Given the description of an element on the screen output the (x, y) to click on. 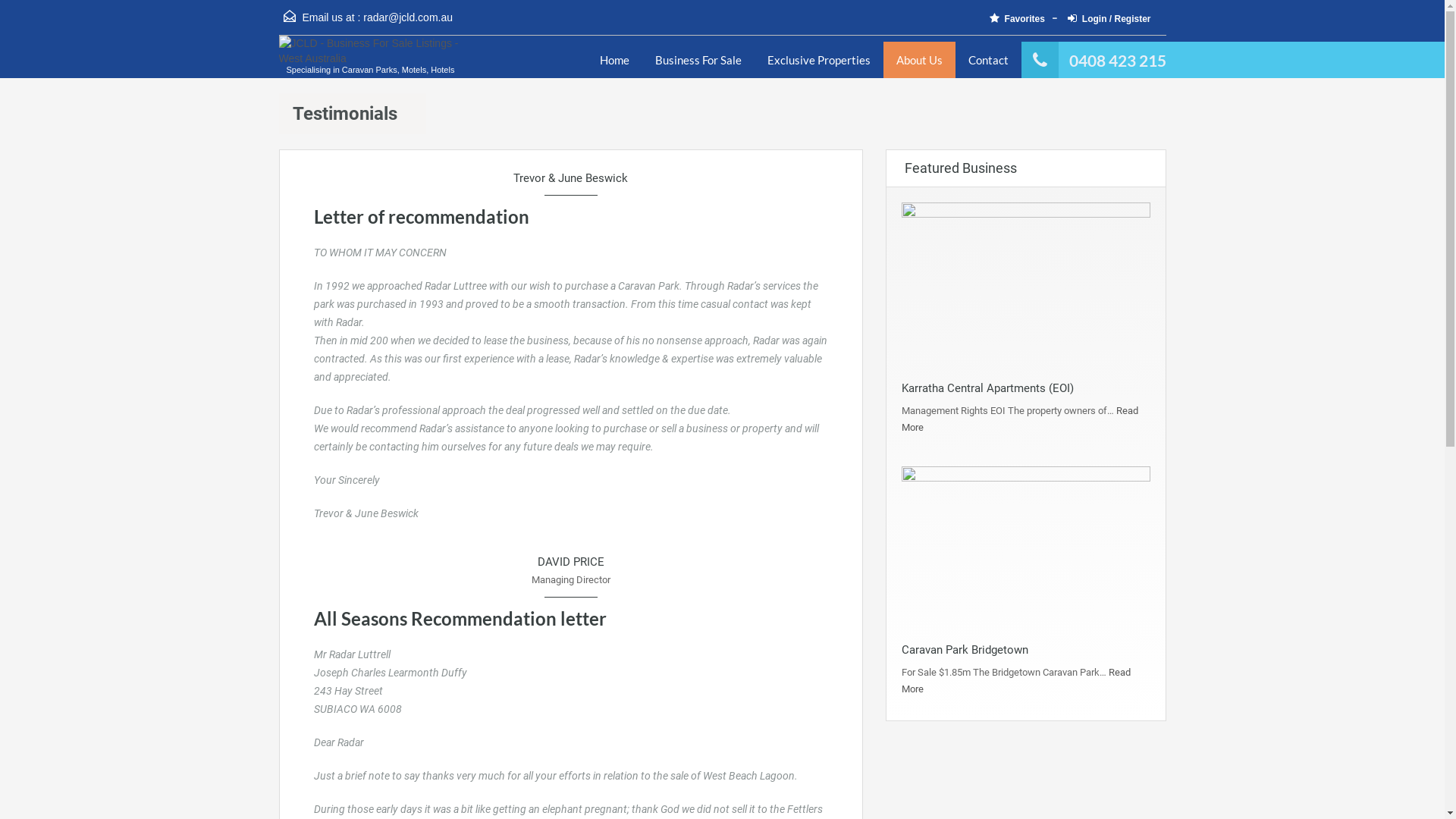
Caravan Park Bridgetown Element type: text (963, 649)
Karratha Central Apartments (EOI) Element type: text (986, 388)
radar@jcld.com.au Element type: text (407, 17)
About Us Element type: text (918, 59)
Home Element type: text (614, 59)
Contact Element type: text (988, 59)
Exclusive Properties Element type: text (817, 59)
Favorites Element type: text (1026, 19)
Business For Sale Element type: text (697, 59)
Read More Element type: text (1018, 418)
Login / Register Element type: text (1112, 19)
Read More Element type: text (1014, 680)
